Given the description of an element on the screen output the (x, y) to click on. 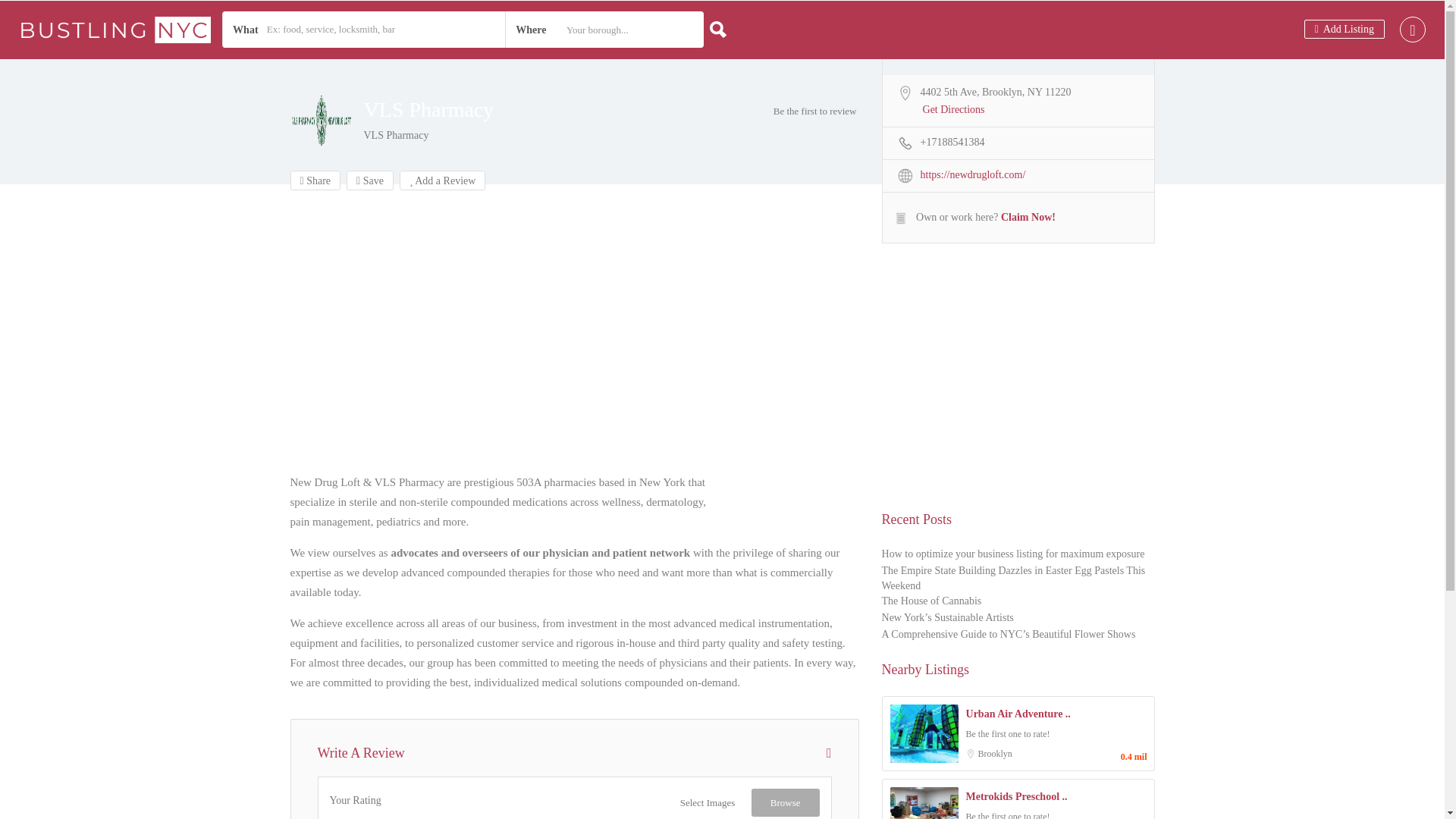
Add Listing (1344, 28)
Save (369, 180)
Browse (785, 802)
Add a Review (442, 180)
CHOOSE PLAN (276, 18)
Claim Now! (1028, 216)
Get Directions (954, 110)
Submit (413, 502)
Advertisement (574, 343)
CHOOSE PLAN (721, 596)
Claim your business now! (584, 567)
Share (314, 180)
How to optimize your business listing for maximum exposure (1013, 555)
Advertisement (1018, 387)
